Given the description of an element on the screen output the (x, y) to click on. 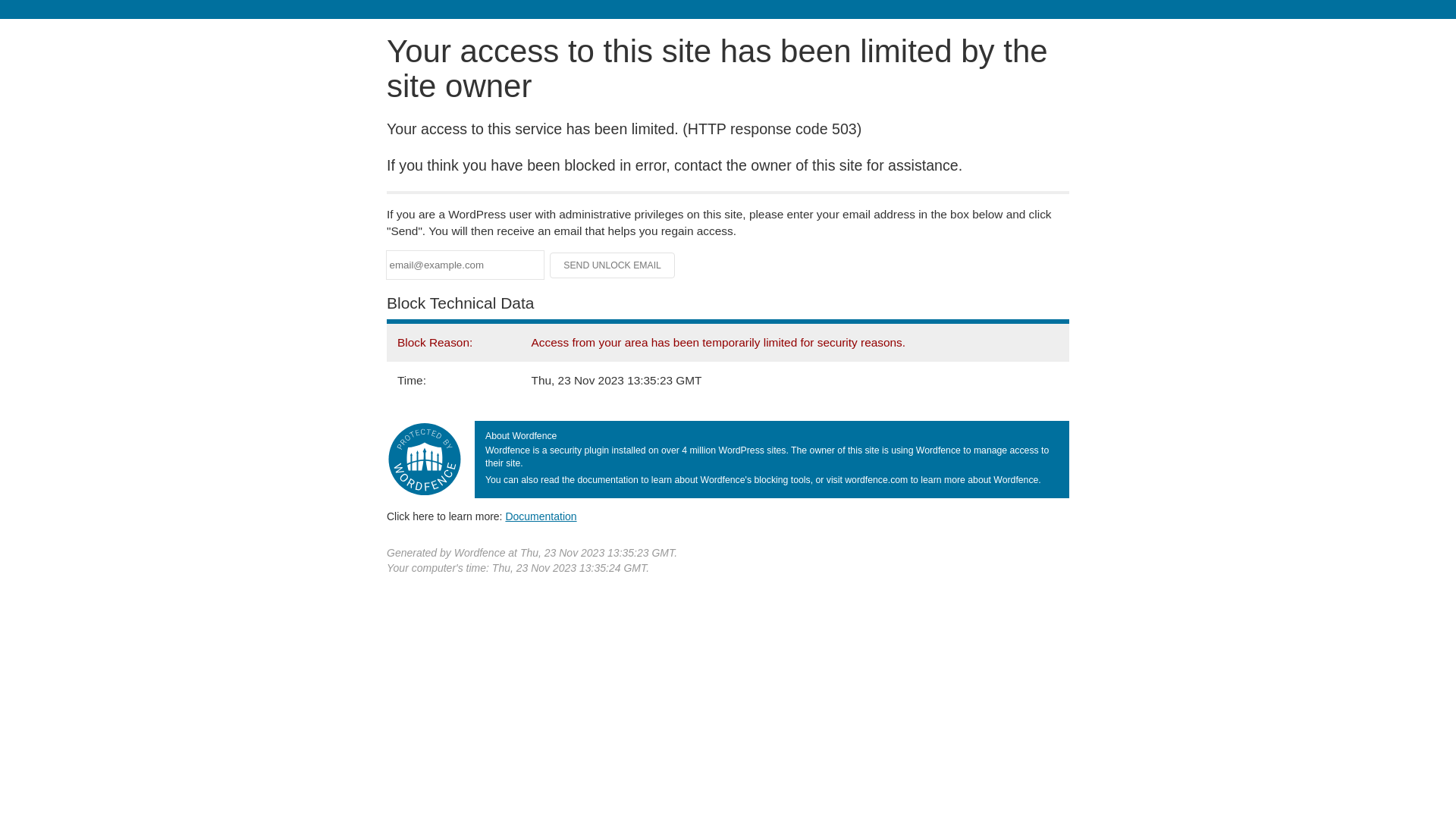
Send Unlock Email Element type: text (612, 265)
Documentation Element type: text (540, 516)
